Given the description of an element on the screen output the (x, y) to click on. 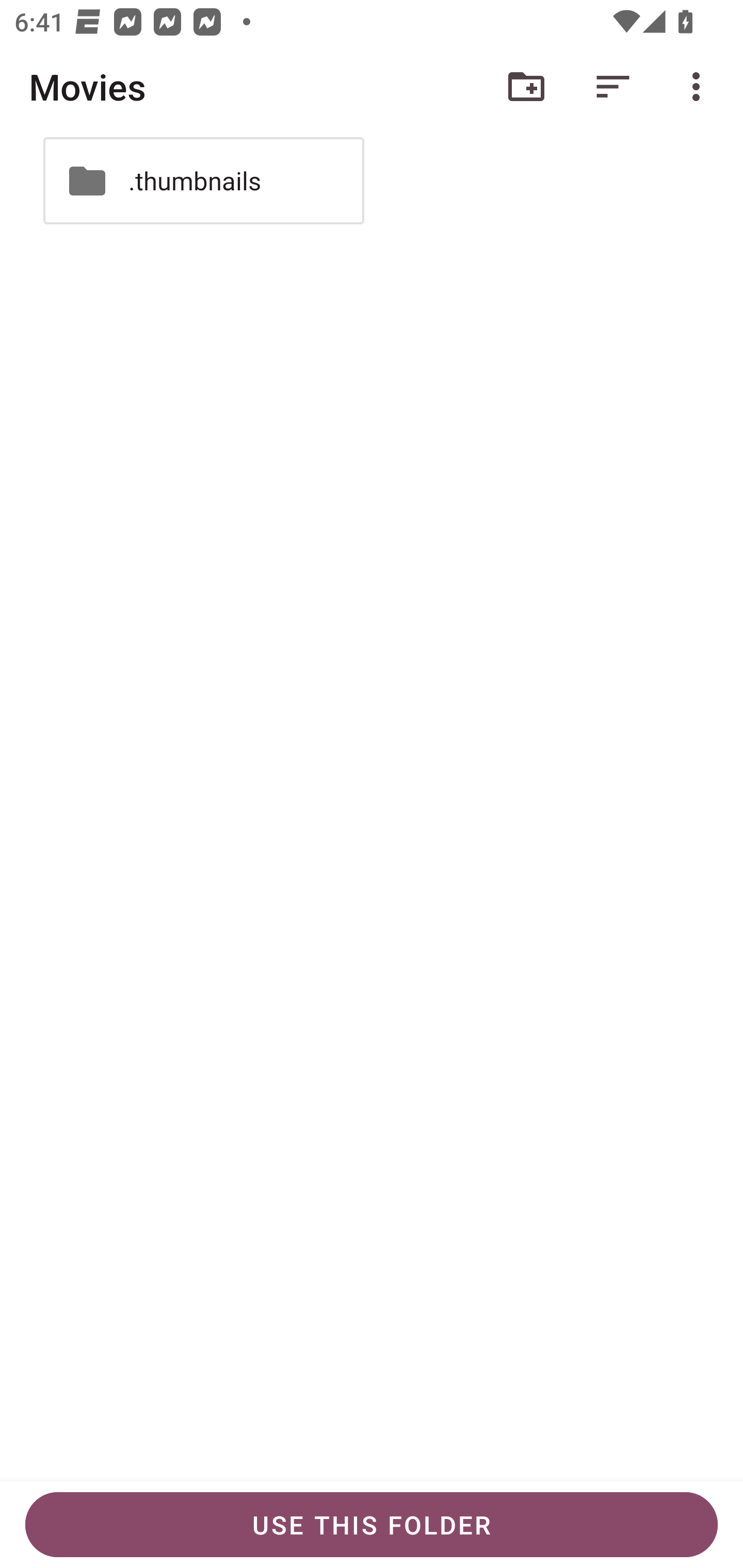
New folder (525, 86)
Sort by... (612, 86)
More options (699, 86)
.thumbnails (203, 180)
USE THIS FOLDER (371, 1524)
